Given the description of an element on the screen output the (x, y) to click on. 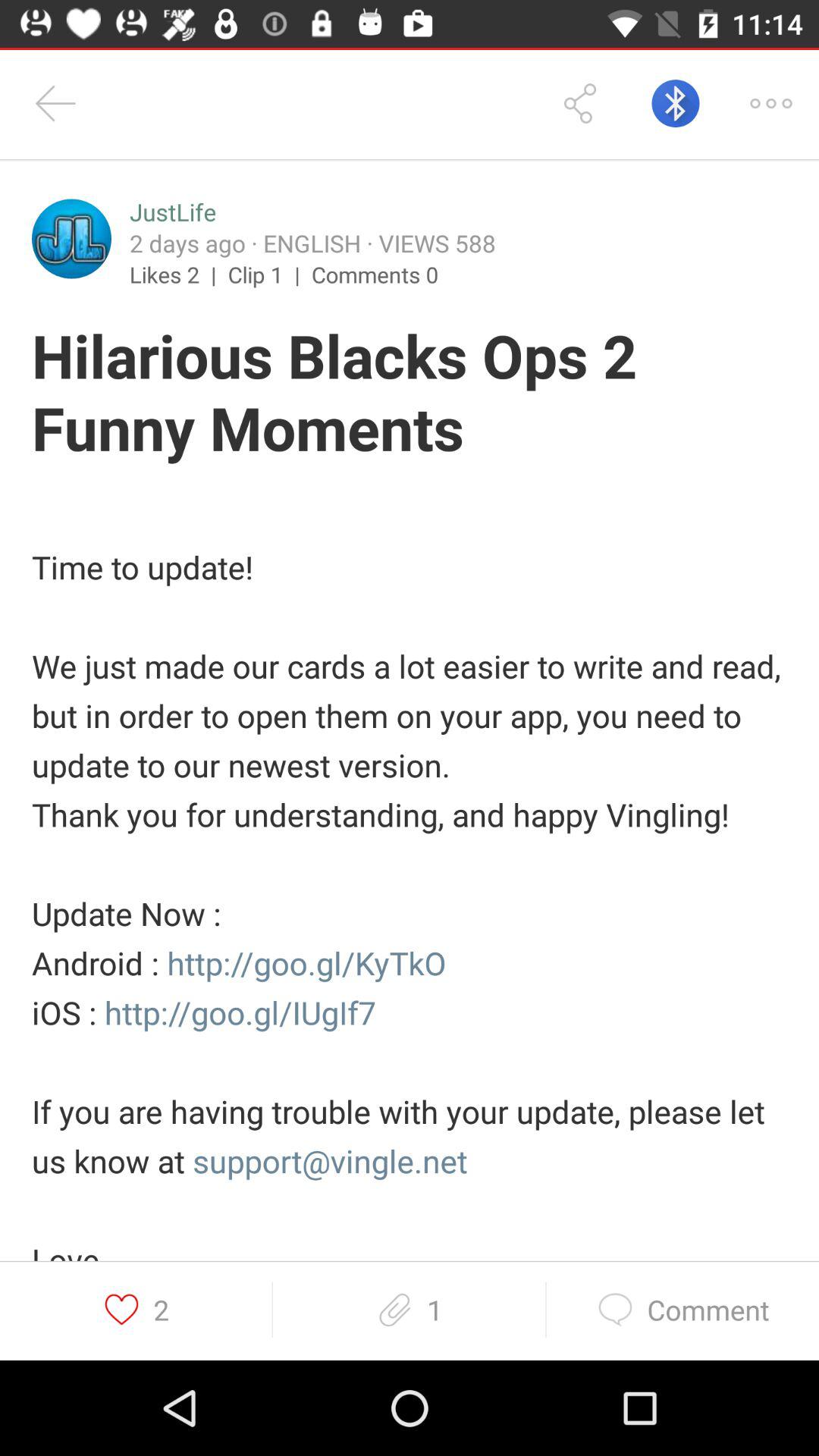
turn on the icon below likes 2  |   icon (409, 394)
